Given the description of an element on the screen output the (x, y) to click on. 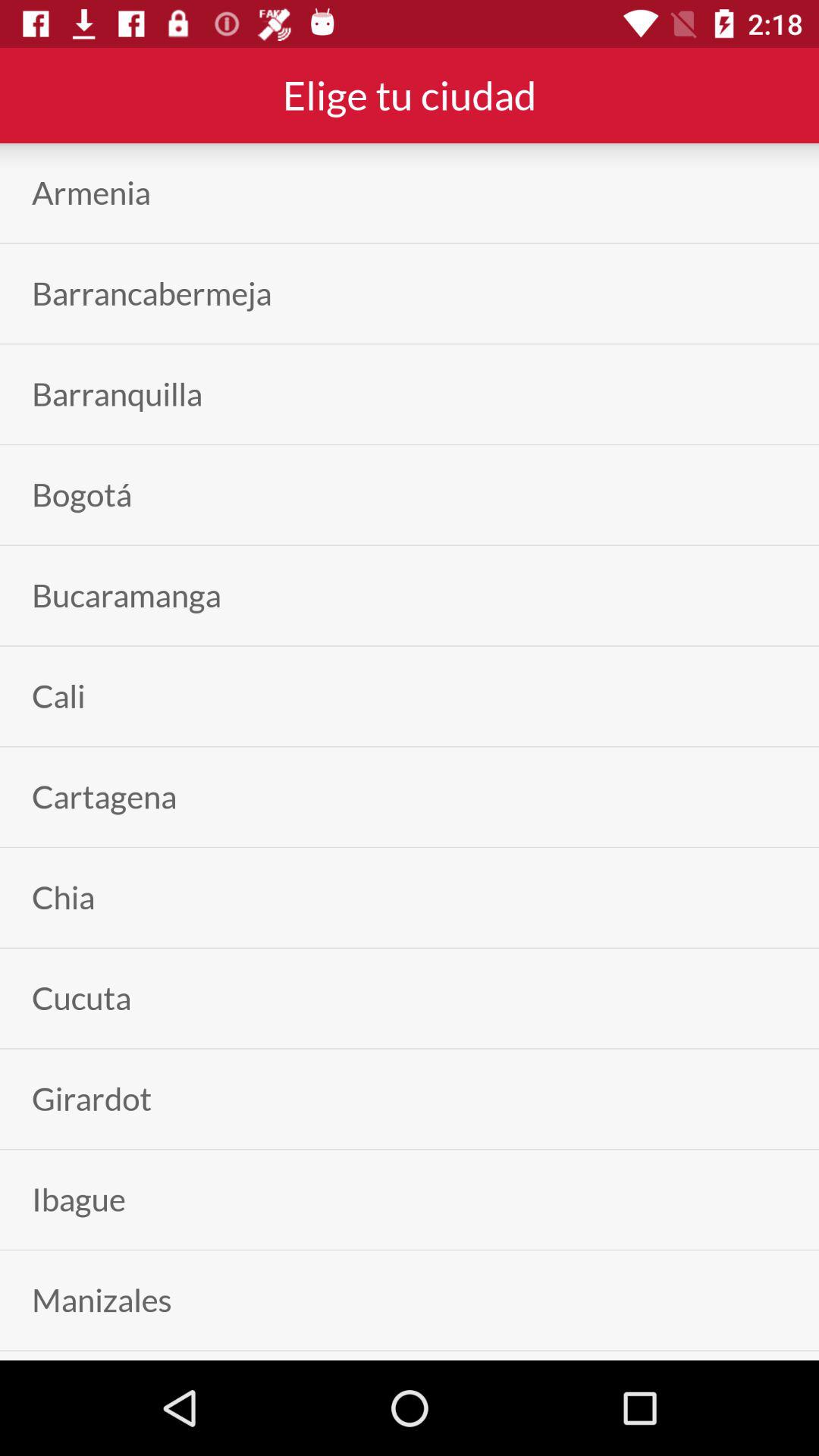
tap icon above the bucaramanga (81, 495)
